Given the description of an element on the screen output the (x, y) to click on. 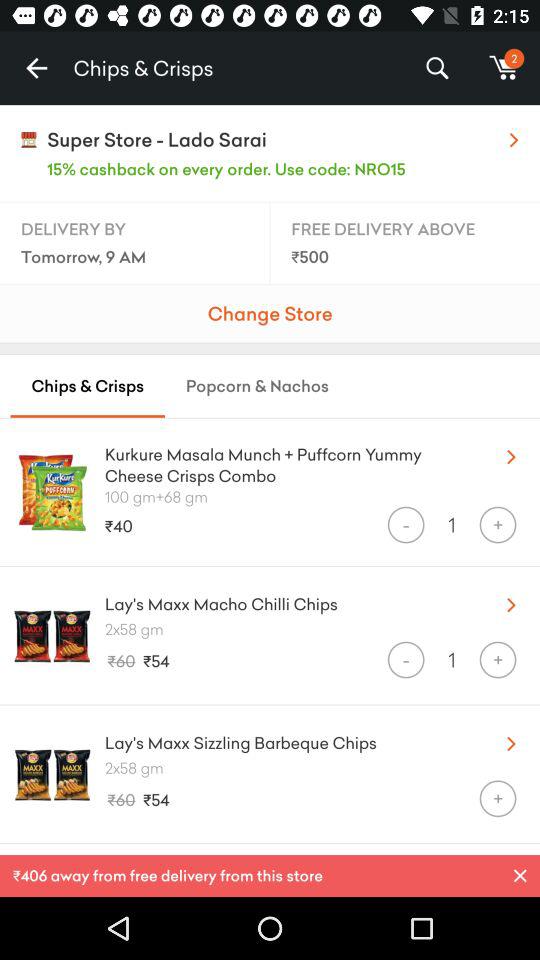
jump until the % item (436, 67)
